Given the description of an element on the screen output the (x, y) to click on. 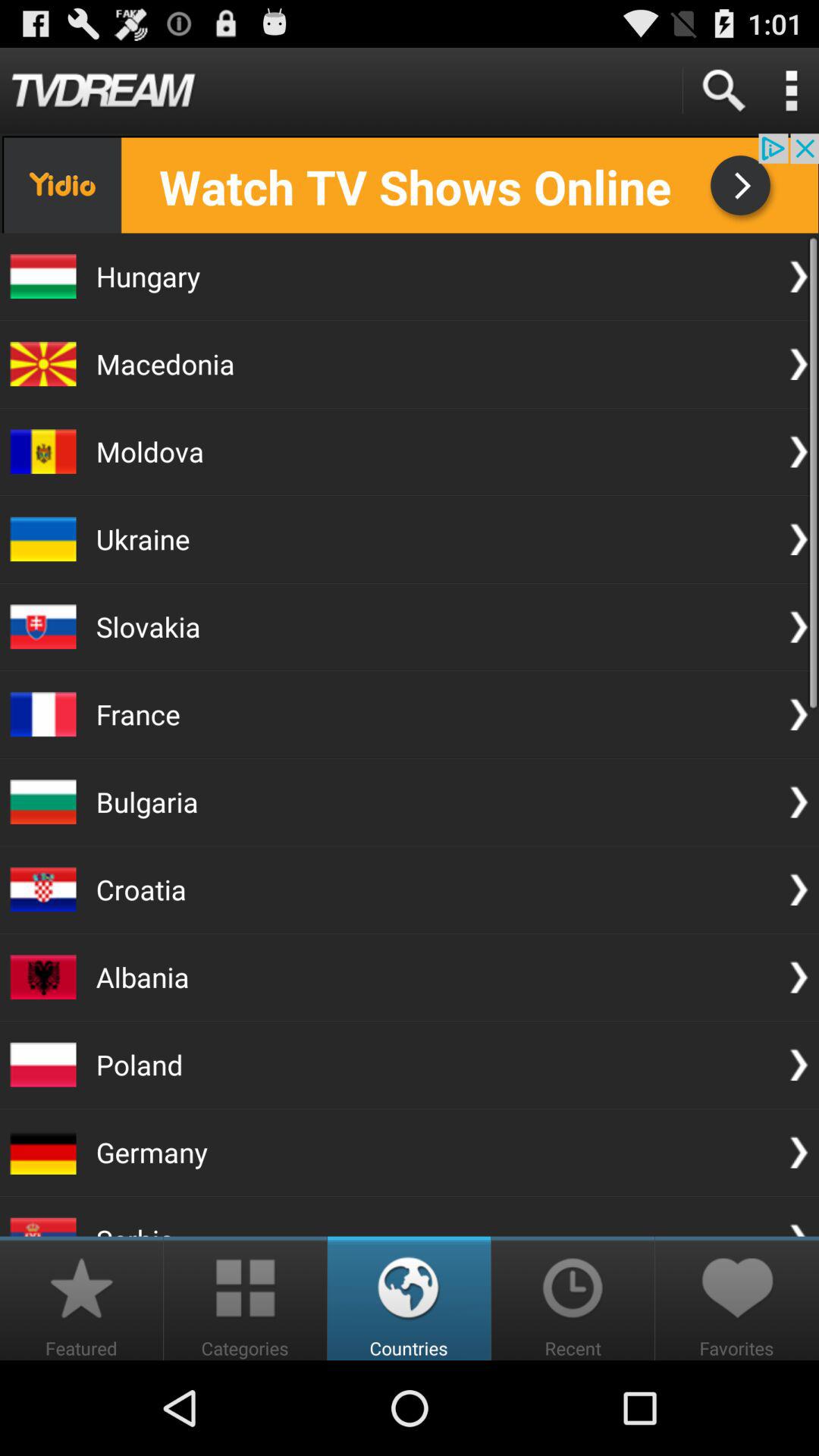
go to settings (791, 90)
